Given the description of an element on the screen output the (x, y) to click on. 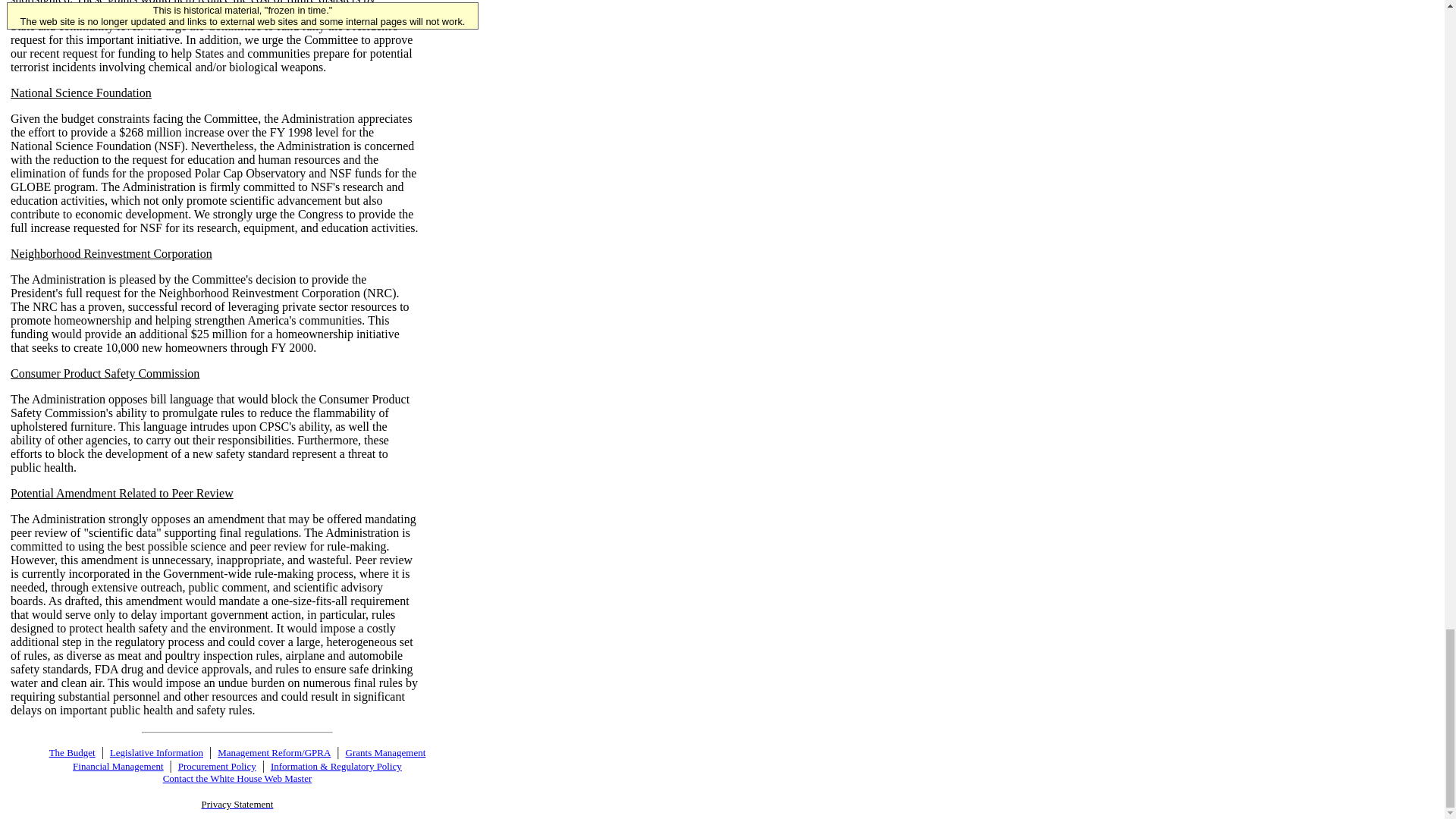
Procurement Policy (216, 765)
Privacy Statement (237, 802)
Financial Management (117, 765)
Contact the White House Web Master (238, 777)
The Budget (72, 751)
Legislative Information (156, 751)
Grants Management (386, 751)
